Given the description of an element on the screen output the (x, y) to click on. 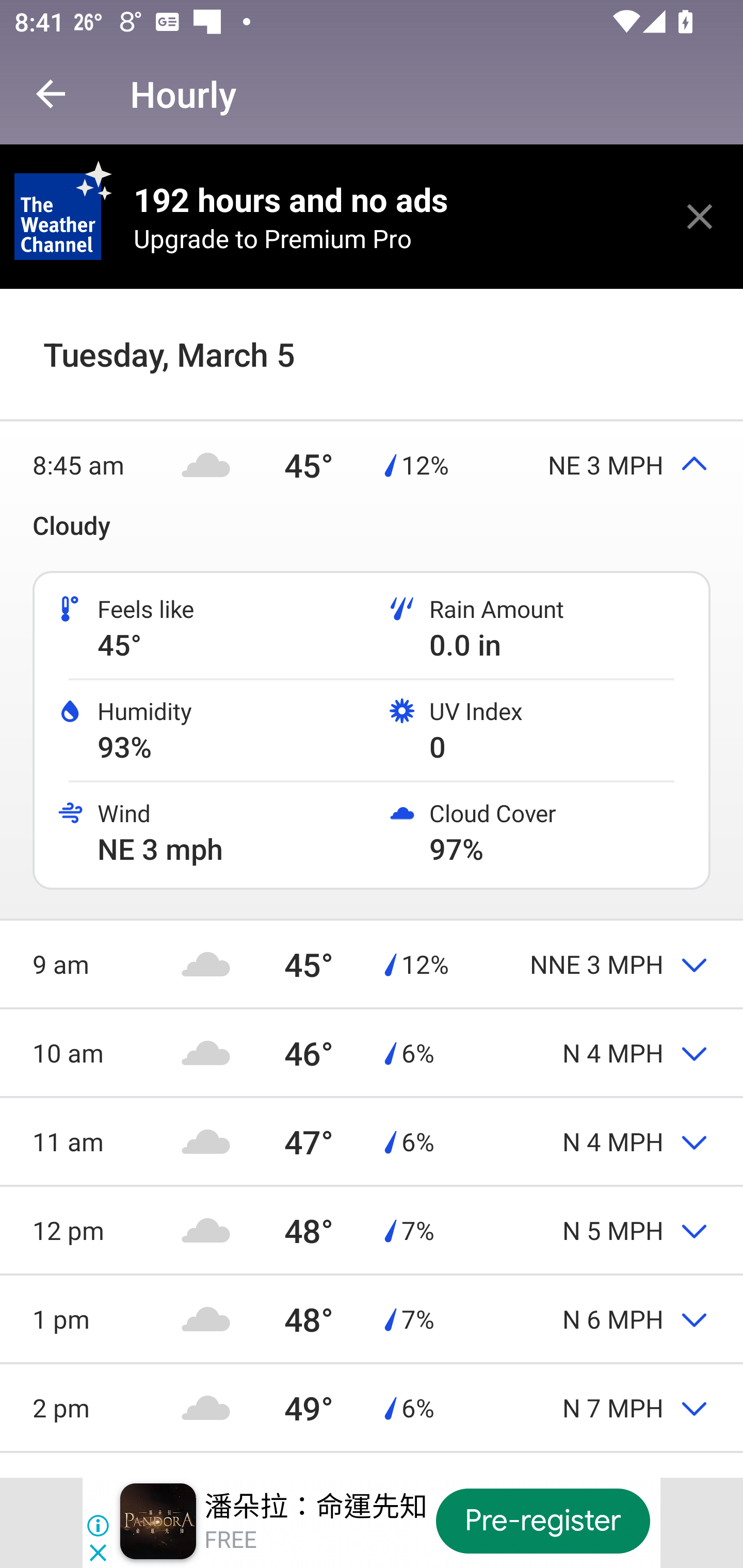
Navigate up (50, 93)
close this (699, 216)
8:45 am 45° 12% NE 3 MPH (371, 464)
9 am 45° 12% NNE 3 MPH (371, 963)
10 am 46° 6% N 4 MPH (371, 1052)
11 am 47° 6% N 4 MPH (371, 1141)
12 pm 48° 7% N 5 MPH (371, 1229)
1 pm 48° 7% N 6 MPH (371, 1318)
2 pm 49° 6% N 7 MPH (371, 1407)
潘朵拉：命運先知 (316, 1506)
Pre-register (542, 1520)
FREE (230, 1540)
